Given the description of an element on the screen output the (x, y) to click on. 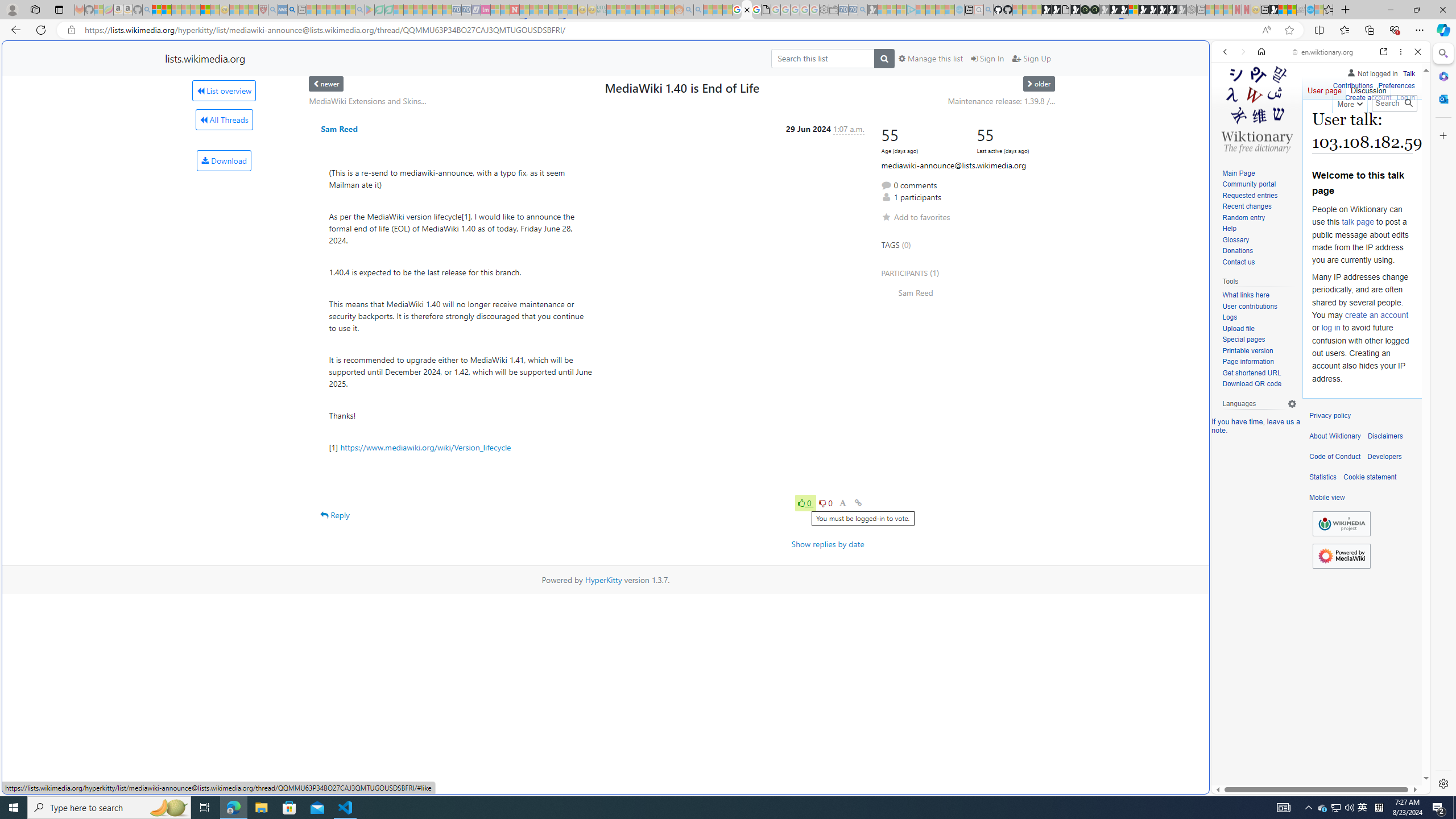
Privacy policy (1329, 415)
Page information (1259, 361)
Contact us (1238, 261)
Special pages (1259, 339)
HyperKitty (603, 579)
